Given the description of an element on the screen output the (x, y) to click on. 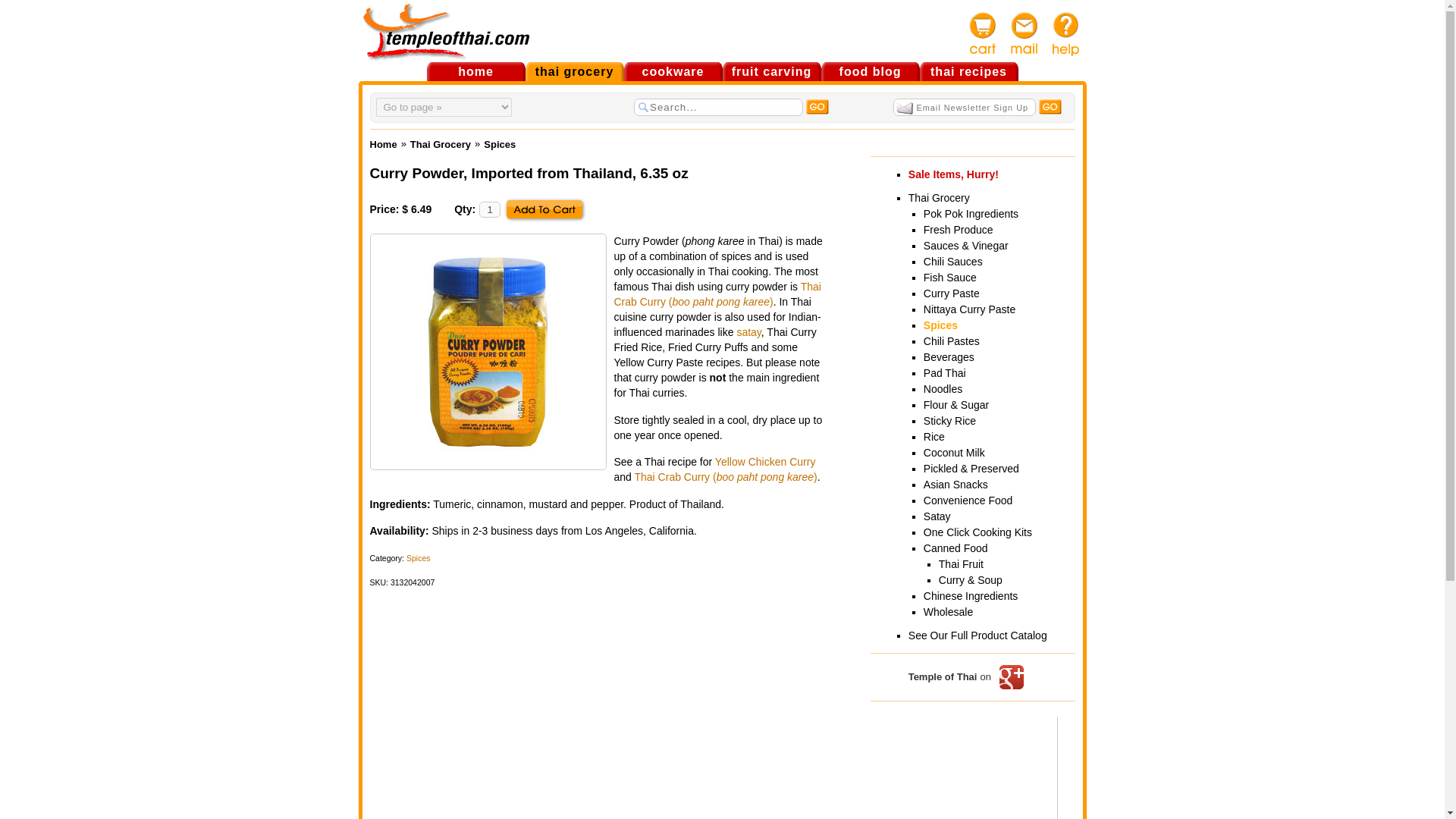
Home (383, 143)
1 (489, 209)
Essential Asian Kitchenware (672, 71)
Thai Grocery (440, 143)
Spices (499, 143)
Online Asian Grocery Store (573, 71)
home (475, 71)
cookware (672, 71)
Temple of Thai Home Page (475, 71)
Spices (418, 557)
